Given the description of an element on the screen output the (x, y) to click on. 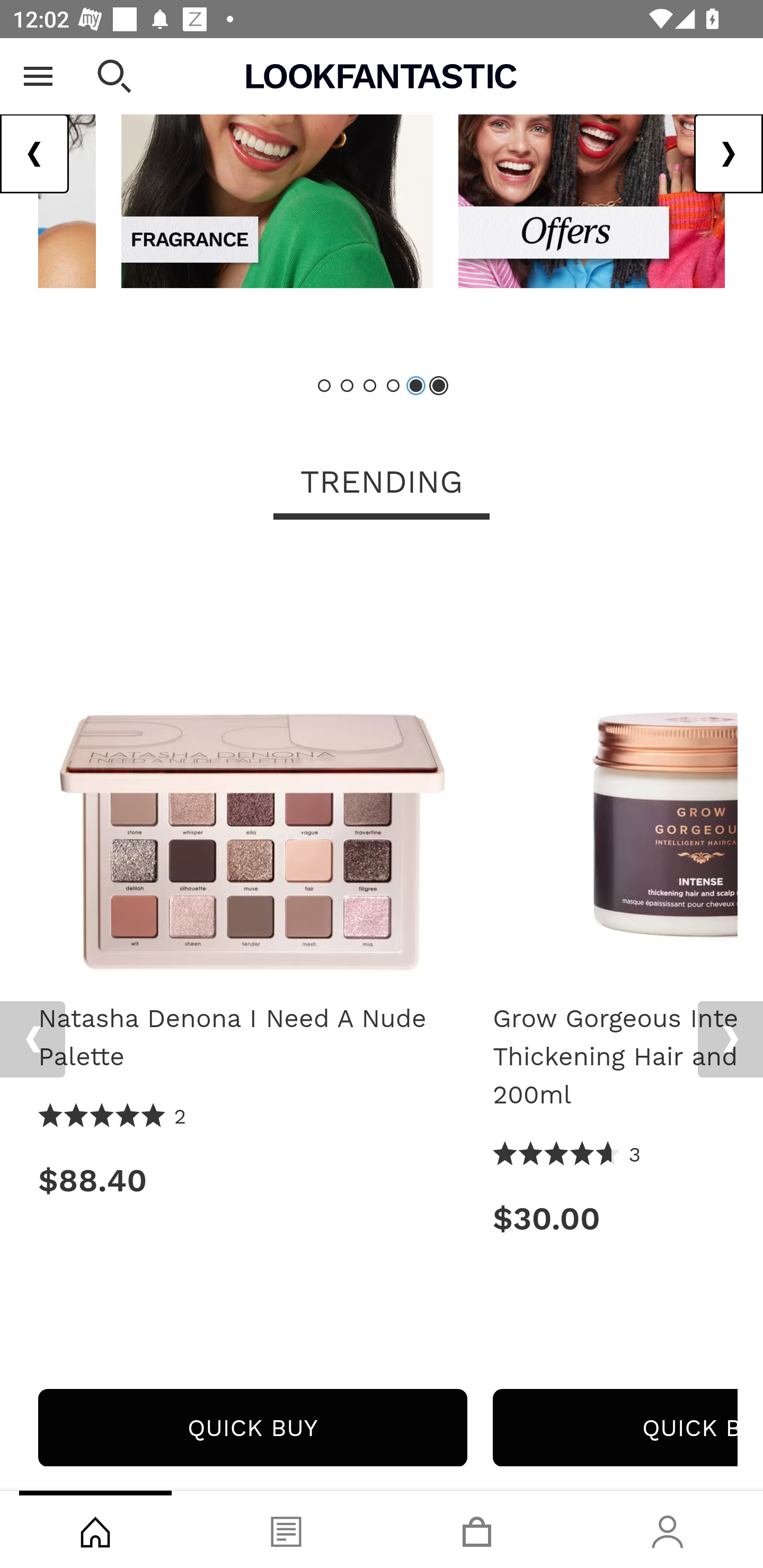
Previous (35, 155)
Next (727, 155)
Slide 1 (324, 386)
Slide 2 (347, 386)
Slide 3 (369, 386)
Slide 4 (393, 386)
Showing Slide 5 (Current Item) (415, 386)
Showing Slide 6 (Current Item) (437, 386)
TRENDING (381, 484)
Natasha Denona I Need A Nude Palette (252, 766)
Natasha Denona I Need A Nude Palette (252, 1037)
Previous (32, 1039)
Next (730, 1039)
5.0 Stars 2 Reviews (112, 1117)
4.67 Stars 3 Reviews (567, 1155)
Price: $88.40 (252, 1181)
Price: $30.00 (614, 1219)
QUICK BUY NATASHA DENONA I NEED A NUDE PALETTE (252, 1428)
Shop, tab, 1 of 4 (95, 1529)
Blog, tab, 2 of 4 (285, 1529)
Basket, tab, 3 of 4 (476, 1529)
Account, tab, 4 of 4 (667, 1529)
